Given the description of an element on the screen output the (x, y) to click on. 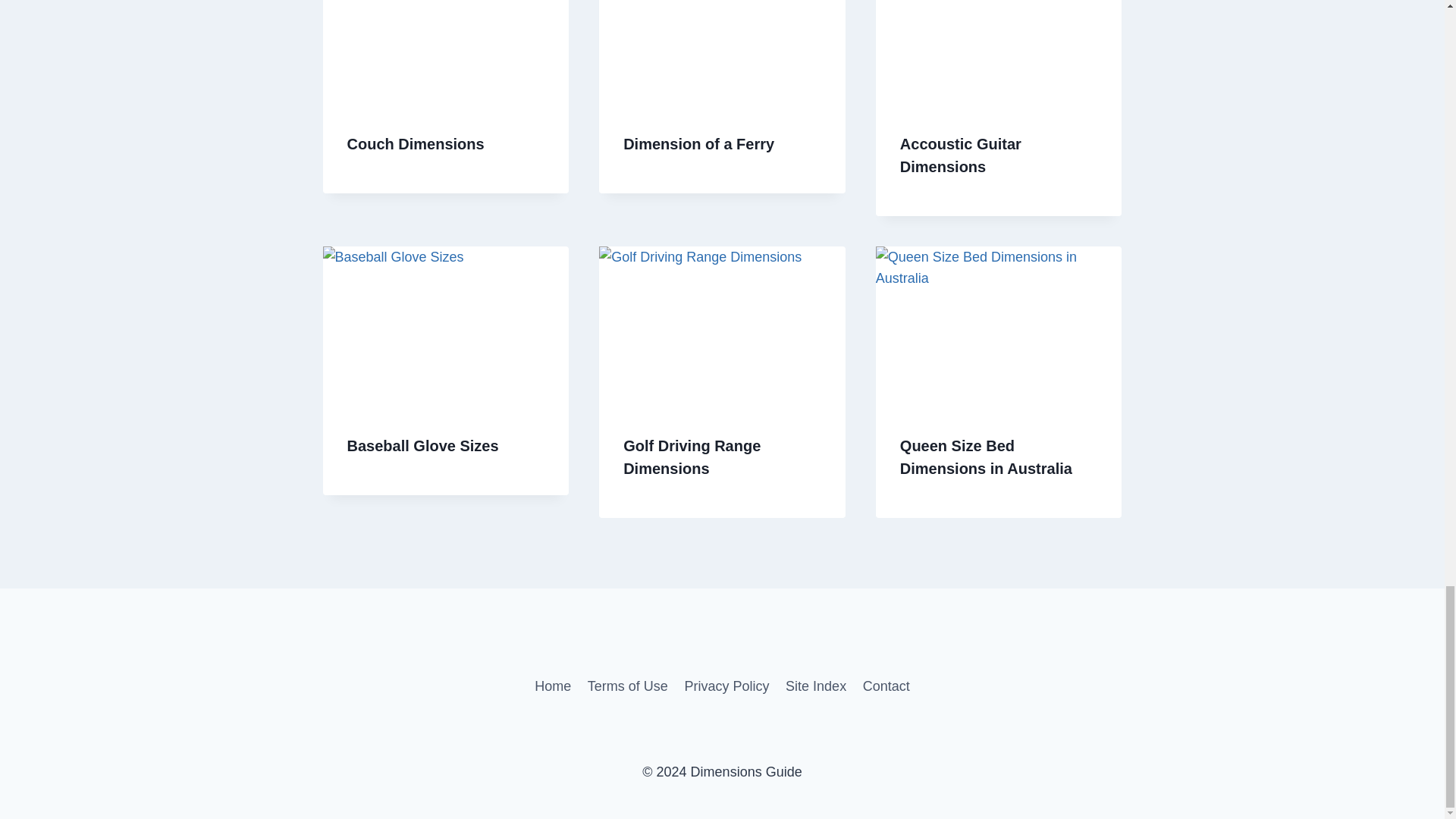
Couch Dimensions (415, 143)
Accoustic Guitar Dimensions (960, 155)
Dimension of a Ferry (698, 143)
